Given the description of an element on the screen output the (x, y) to click on. 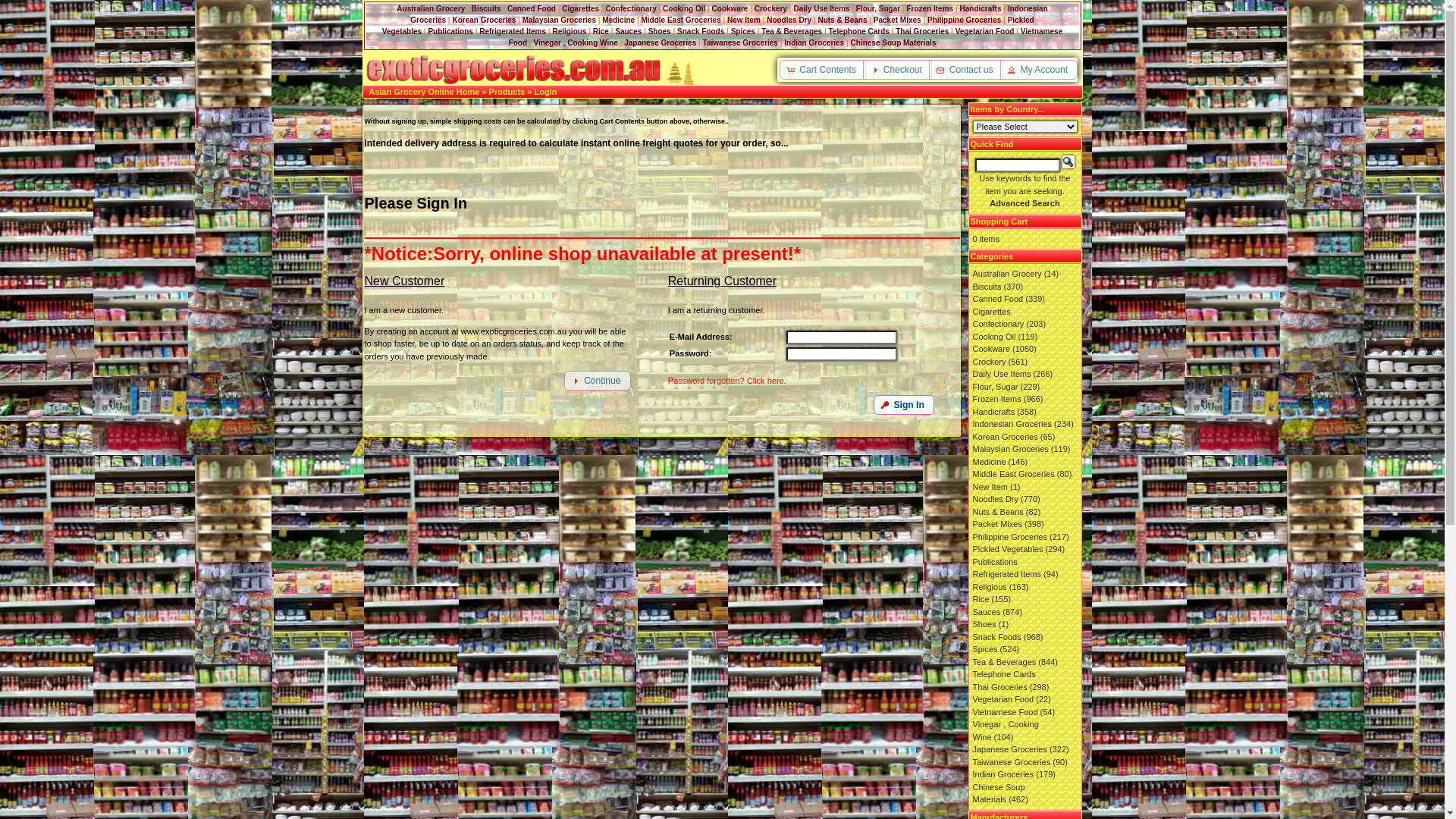
Korean Groceries Element type: text (483, 19)
Crockery Element type: text (988, 360)
Frozen Items Element type: text (996, 398)
Pickled Vegetables Element type: text (708, 25)
Publications Element type: text (994, 560)
Frozen Items Element type: text (929, 8)
Chinese Soup Materials Element type: text (998, 793)
Products Element type: text (507, 91)
Crockery Element type: text (770, 8)
Nuts & Beans Element type: text (841, 19)
Vegetarian Food Element type: text (1002, 698)
Vietnamese Food Element type: text (1004, 710)
Password forgotten? Click here. Element type: text (727, 380)
Korean Groceries Element type: text (1004, 436)
Japanese Groceries Element type: text (1009, 748)
Cookware Element type: text (730, 8)
Malaysian Groceries Element type: text (1010, 448)
Shoes Element type: text (983, 623)
Cookware Element type: text (991, 348)
New Item Element type: text (743, 19)
Vinegar , Cooking Wine Element type: text (575, 42)
Noodles Dry Element type: text (995, 498)
Tea & Beverages Element type: text (1003, 660)
 Quick Find  Element type: hover (1068, 161)
Taiwanese Groceries Element type: text (1011, 760)
Spices Element type: text (743, 31)
Checkout Element type: text (896, 69)
Philippine Groceries Element type: text (964, 19)
Advanced Search Element type: text (1024, 202)
Canned Food Element type: text (531, 8)
Medicine Element type: text (988, 460)
Religious Element type: text (989, 586)
Biscuits Element type: text (986, 286)
Pickled Vegetables Element type: text (1007, 548)
Australian Grocery Element type: text (1006, 273)
Indonesian Groceries Element type: text (1011, 423)
Daily Use Items Element type: text (1001, 373)
Thai Groceries Element type: text (999, 686)
Handicrafts Element type: text (980, 8)
Login Element type: text (544, 91)
Snack Foods Element type: text (996, 636)
Telephone Cards Element type: text (1003, 673)
Spices Element type: text (984, 648)
Vinegar , Cooking Wine Element type: text (1005, 730)
Cigarettes Element type: text (580, 8)
Publications Element type: text (449, 31)
New Item Element type: text (989, 486)
Packet Mixes Element type: text (996, 523)
Flour, Sugar Element type: text (994, 386)
Cigarettes Element type: text (991, 310)
Cooking Oil Element type: text (683, 8)
Handicrafts Element type: text (993, 410)
Philippine Groceries Element type: text (1009, 536)
Telephone Cards Element type: text (858, 31)
Confectionary Element type: text (997, 323)
Vegetarian Food Element type: text (984, 31)
Cooking Oil Element type: text (993, 336)
Indian Groceries Element type: text (814, 42)
Confectionary Element type: text (630, 8)
Rice Element type: text (600, 31)
Middle East Groceries Element type: text (681, 19)
Daily Use Items Element type: text (821, 8)
Indian Groceries Element type: text (1002, 773)
Sauces Element type: text (986, 610)
Asian Grocery Online Home Element type: text (423, 91)
Japanese Groceries Element type: text (660, 42)
Canned Food Element type: text (997, 298)
Refrigerated Items Element type: text (512, 31)
Malaysian Groceries Element type: text (559, 19)
Indonesian Groceries Element type: text (728, 14)
Refrigerated Items Element type: text (1006, 573)
Australian Grocery Element type: text (430, 8)
Sign In Element type: text (903, 404)
Medicine Element type: text (618, 19)
Tea & Beverages Element type: text (791, 31)
Sauces Element type: text (628, 31)
Taiwanese Groceries Element type: text (740, 42)
My Account Element type: text (1038, 69)
Cart Contents Element type: text (822, 69)
Packet Mixes Element type: text (897, 19)
Rice Element type: text (980, 598)
Shoes Element type: text (659, 31)
Thai Groceries Element type: text (921, 31)
Flour, Sugar Element type: text (878, 8)
Middle East Groceries Element type: text (1013, 473)
Biscuits Element type: text (486, 8)
Vietnamese Food Element type: text (785, 37)
Snack Foods Element type: text (700, 31)
Contact us Element type: text (965, 69)
Shopping Cart Element type: text (999, 220)
www.exoticgroceries.com.au Element type: hover (512, 69)
Nuts & Beans Element type: text (997, 510)
Noodles Dry Element type: text (788, 19)
Continue Element type: text (597, 380)
Religious Element type: text (569, 31)
Chinese Soup Materials Element type: text (893, 42)
